Given the description of an element on the screen output the (x, y) to click on. 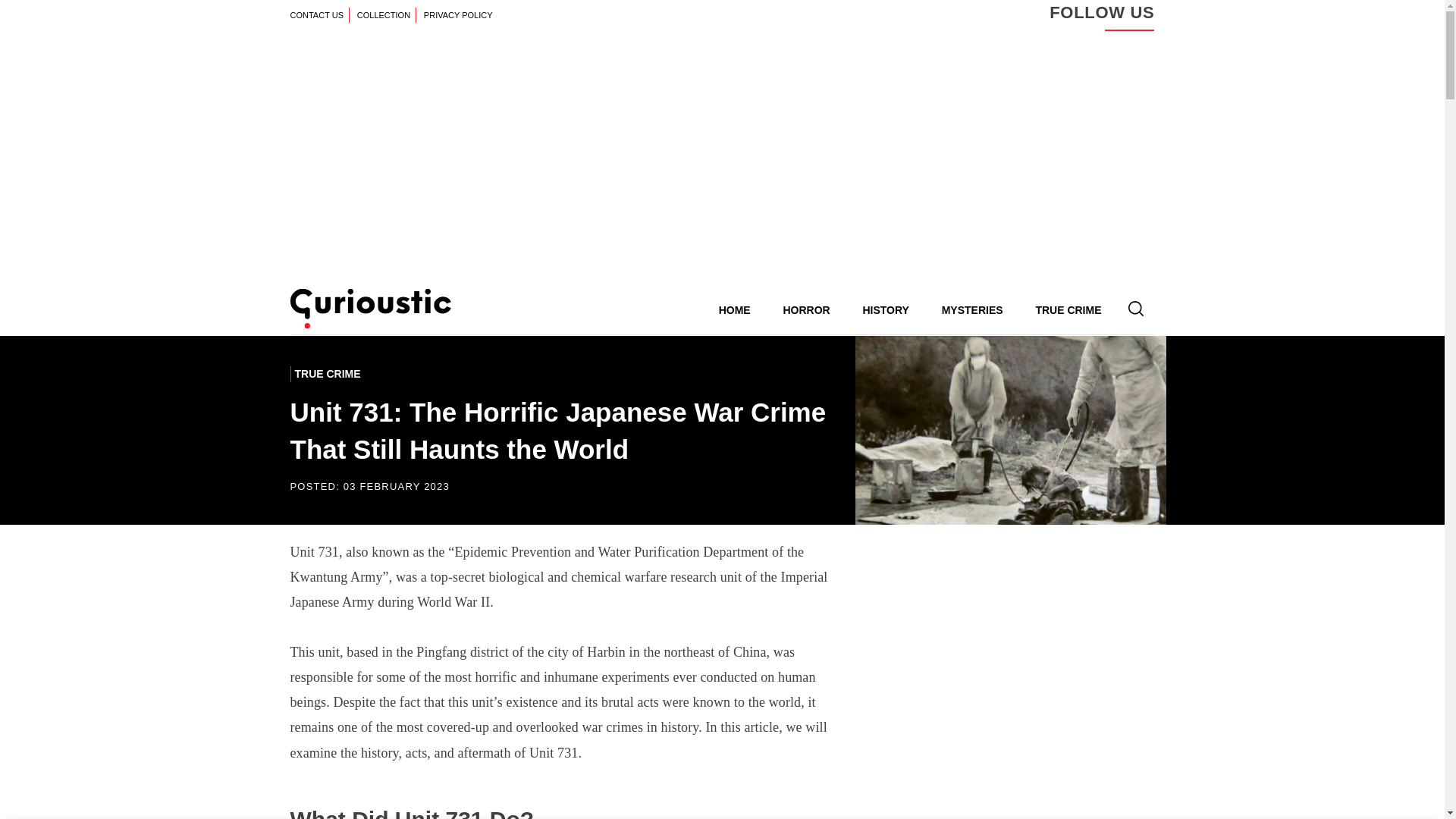
MYSTERIES (971, 309)
TRUE CRIME (326, 373)
COLLECTION (386, 14)
PRIVACY POLICY (458, 14)
HOME (734, 309)
TRUE CRIME (1068, 309)
HISTORY (885, 309)
CONTACT US (319, 14)
HORROR (805, 309)
